Given the description of an element on the screen output the (x, y) to click on. 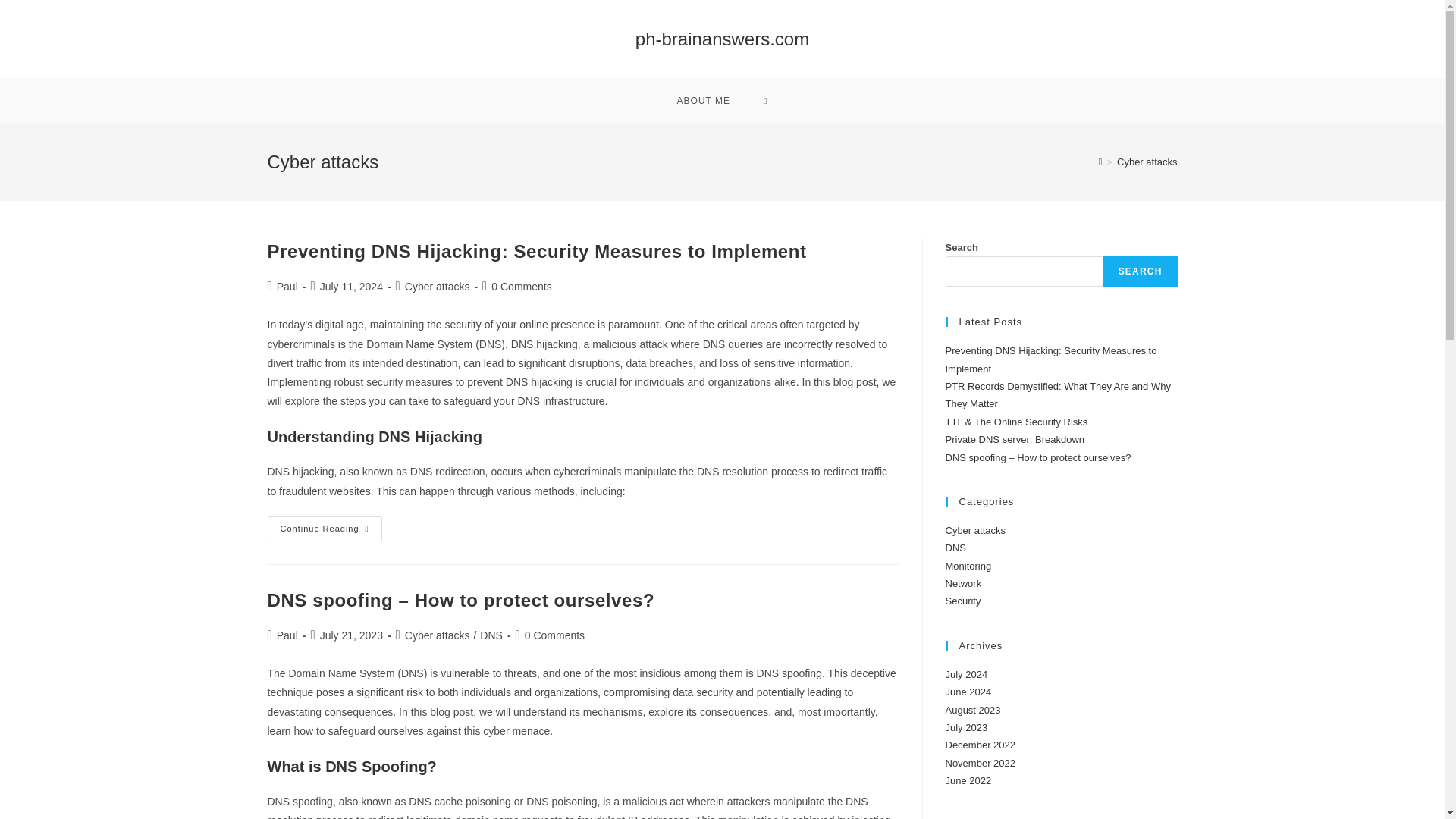
SEARCH (1140, 271)
0 Comments (554, 635)
Posts by Paul (287, 286)
Preventing DNS Hijacking: Security Measures to Implement (536, 250)
Cyber attacks (437, 286)
DNS (491, 635)
Paul (287, 635)
Cyber attacks (1146, 161)
Paul (287, 286)
Cyber attacks (437, 635)
